Given the description of an element on the screen output the (x, y) to click on. 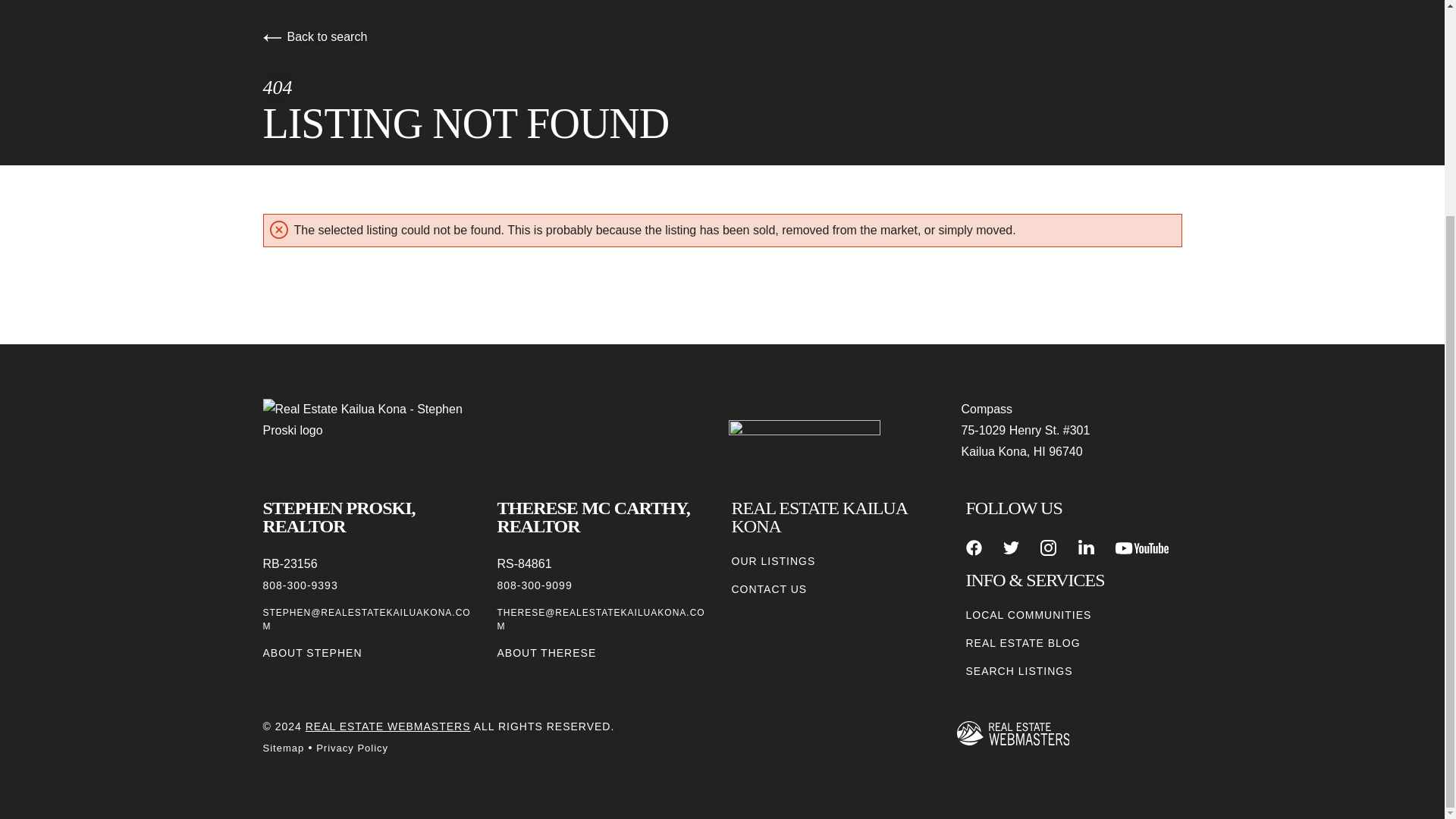
YOUTUBE (1142, 547)
FACEBOOK (973, 547)
TWITTER (1011, 547)
LINKEDIN (1086, 547)
